Given the description of an element on the screen output the (x, y) to click on. 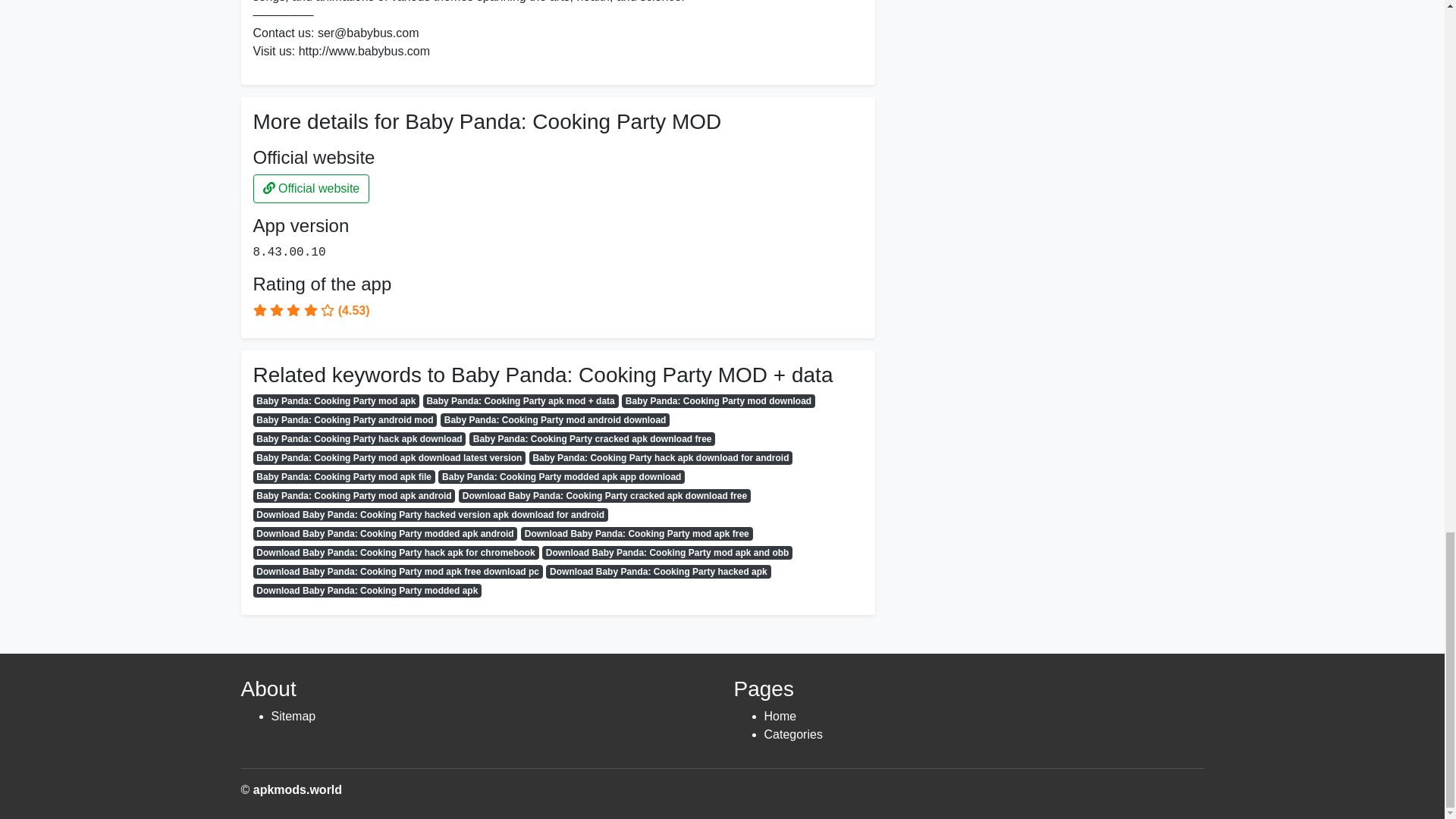
Home (780, 716)
Sitemap (292, 716)
Categories (793, 734)
Official website (311, 188)
